Given the description of an element on the screen output the (x, y) to click on. 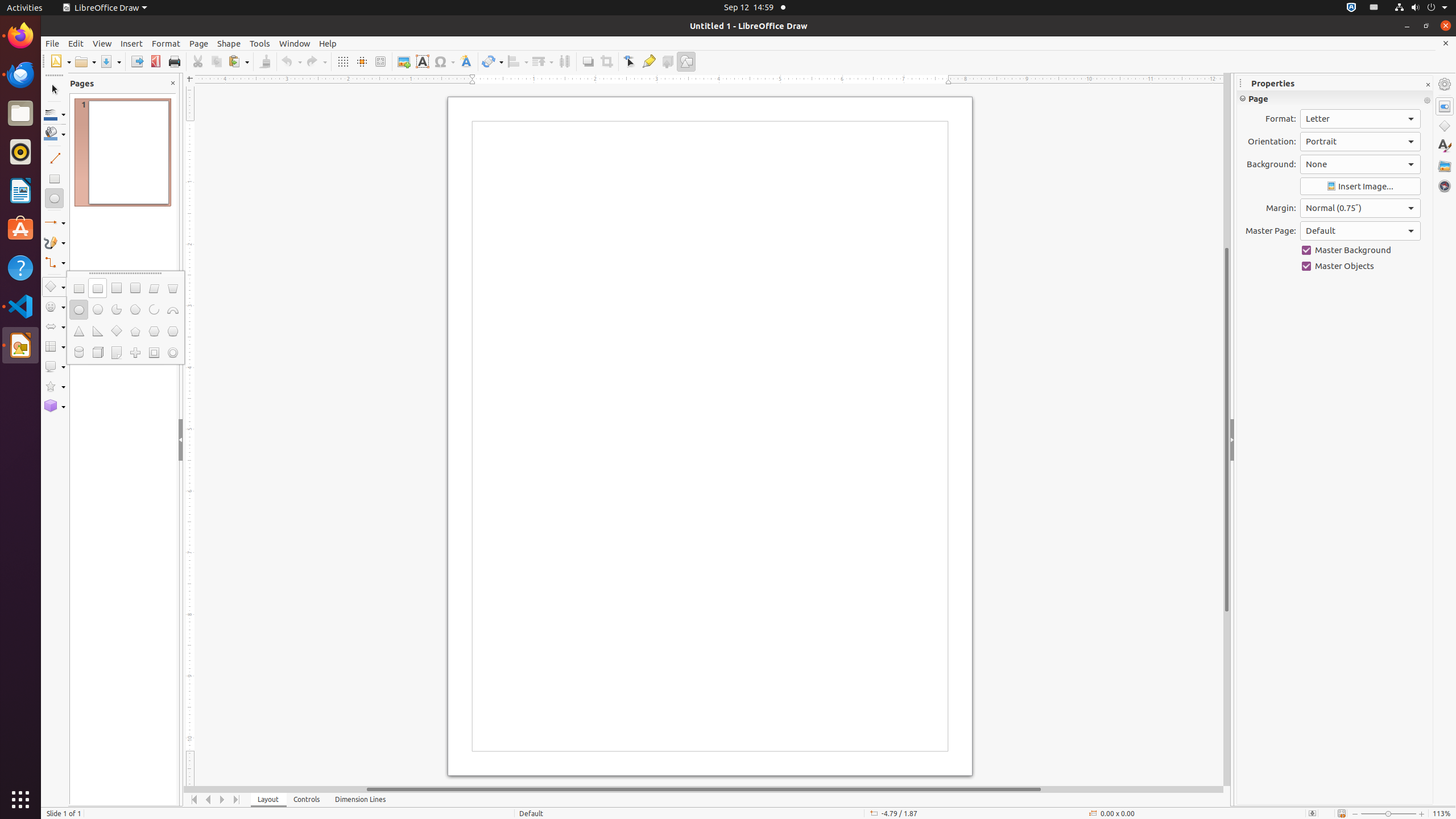
PDF Element type: push-button (155, 61)
Cut Element type: push-button (197, 61)
Tools Element type: menu (259, 43)
Toggle Extrusion Element type: push-button (667, 61)
Navigator Element type: radio-button (1444, 185)
